Given the description of an element on the screen output the (x, y) to click on. 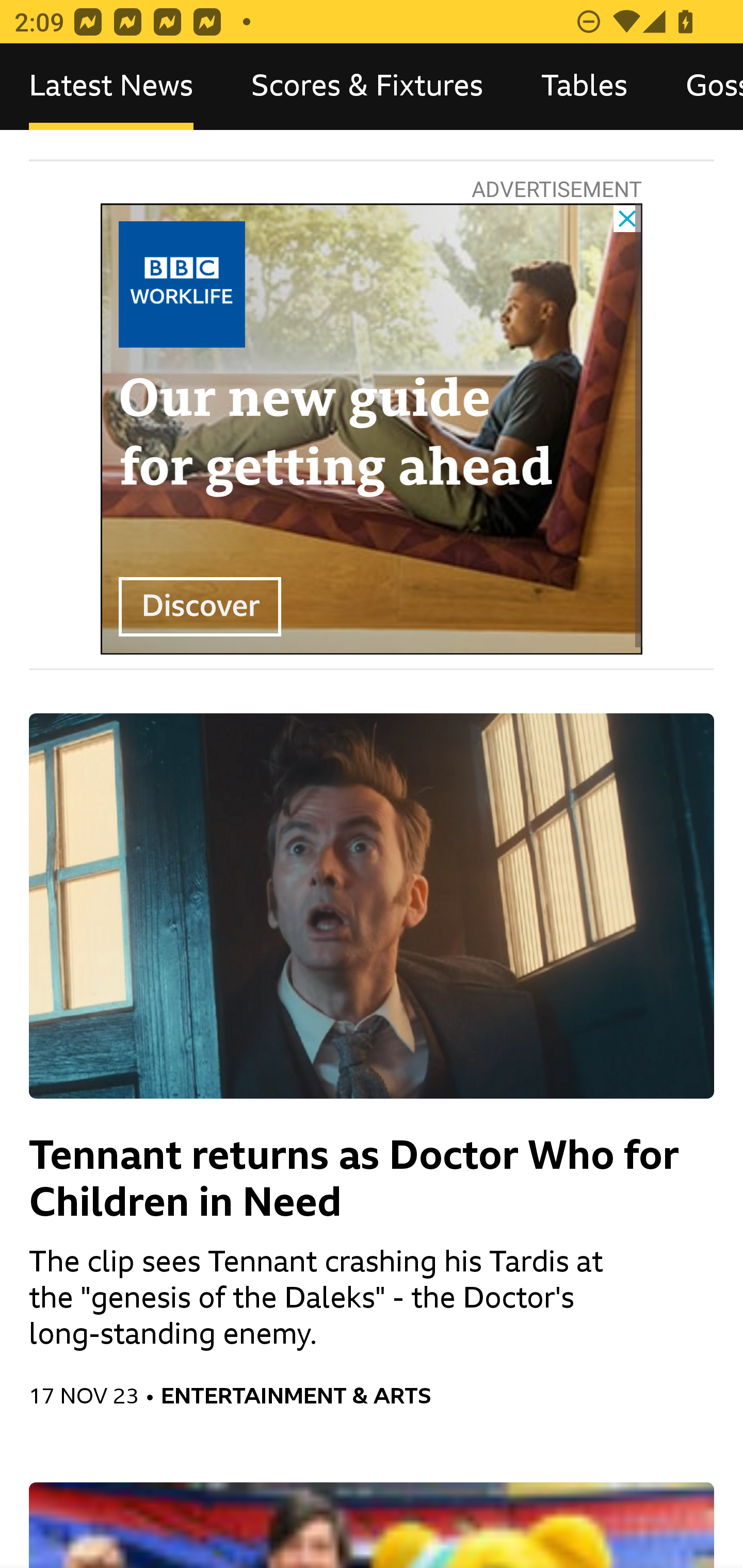
Latest News, selected Latest News (111, 86)
Scores & Fixtures (367, 86)
Tables (584, 86)
Gossip (699, 86)
